Given the description of an element on the screen output the (x, y) to click on. 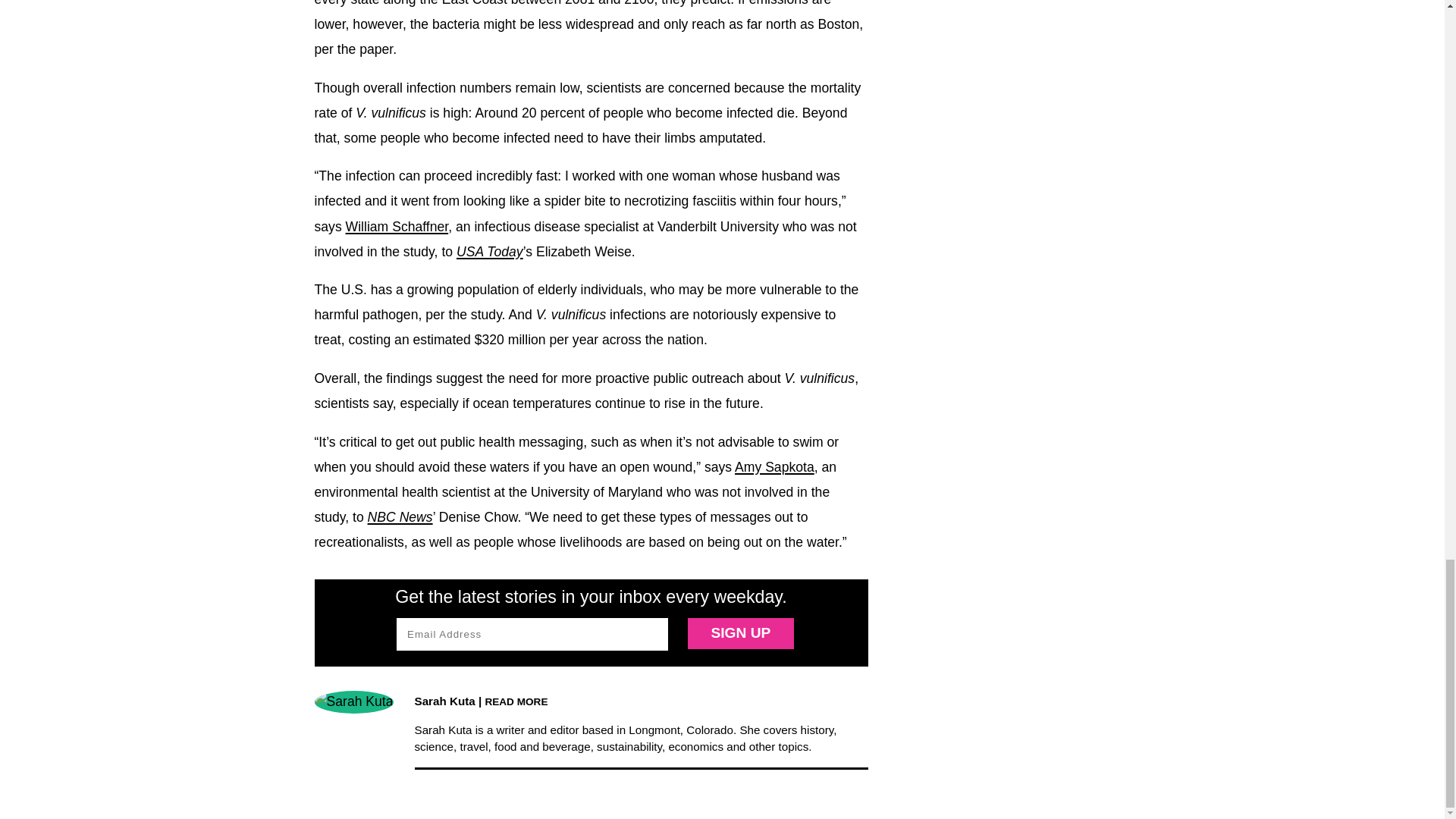
Sign Up (740, 633)
Read more from this author (515, 700)
